Given the description of an element on the screen output the (x, y) to click on. 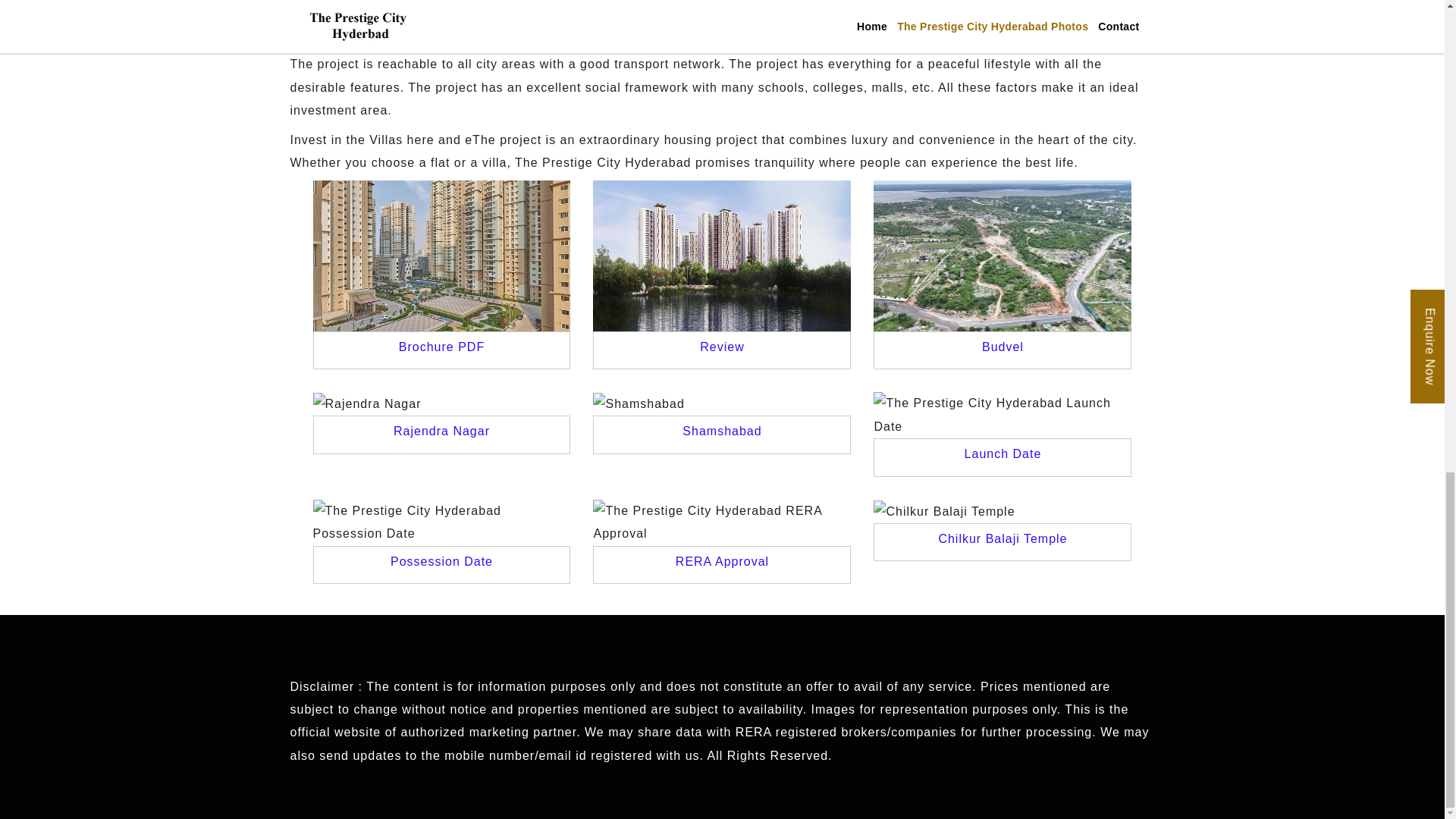
The Prestige City Hyderabad Brochure PDF (441, 255)
The Prestige City Hyderabad Brochure PDF (441, 346)
Shamshabad (638, 404)
Brochure PDF (441, 346)
Possession Date (441, 561)
Review (722, 346)
RERA Approval (721, 561)
Budvel (1002, 346)
The Prestige City Hyderabad Launch Date (1002, 453)
The Prestige City Hyderabad RERA Approval (721, 522)
